Given the description of an element on the screen output the (x, y) to click on. 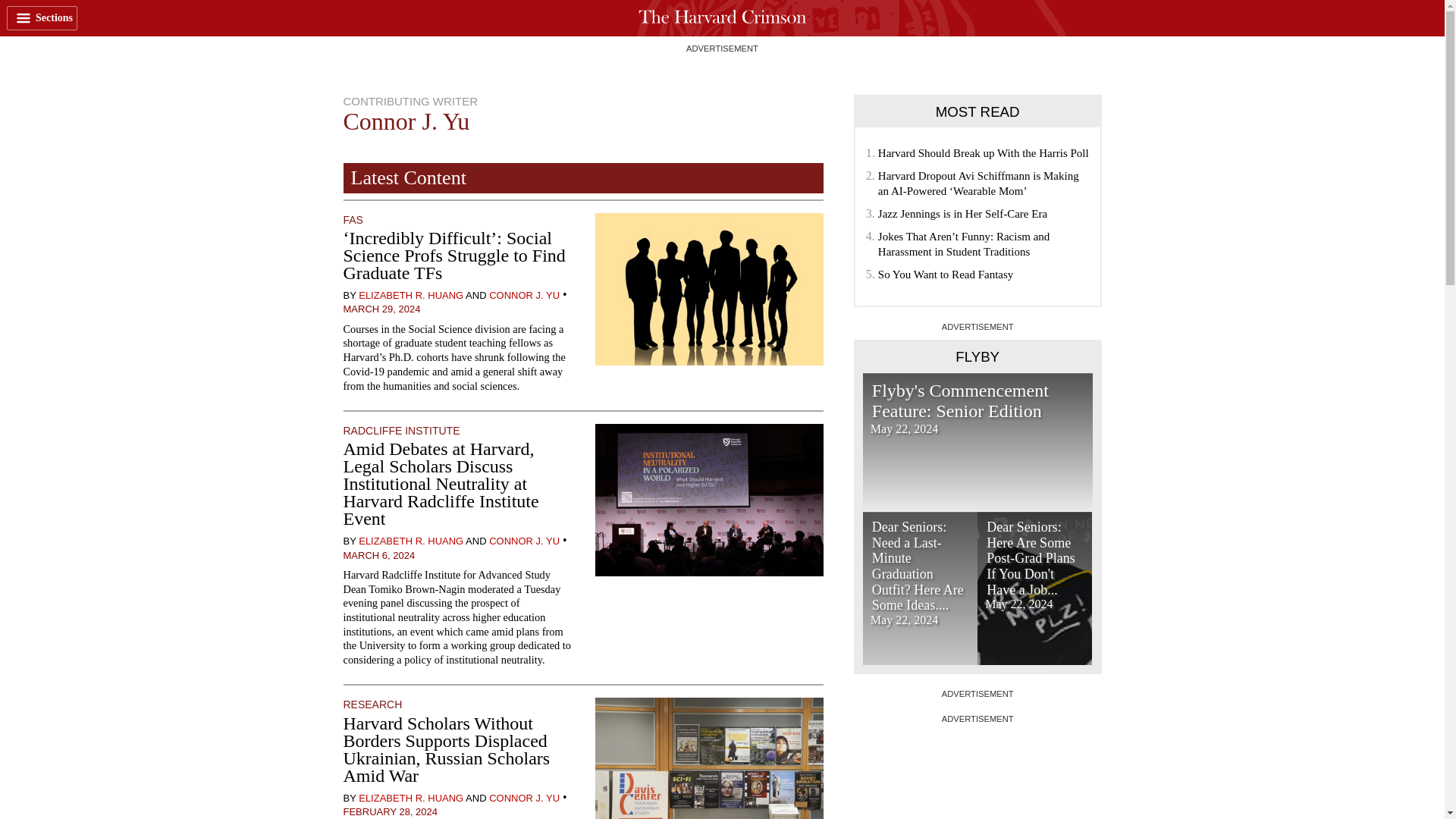
FAS (352, 219)
CONNOR J. YU (524, 541)
ELIZABETH R. HUANG (410, 541)
RESEARCH (371, 704)
ELIZABETH R. HUANG (410, 295)
ELIZABETH R. HUANG (410, 797)
Updated March 06, 2024 at 2:41 pm (378, 554)
Updated May 22, 2024 at 8:52 am (1018, 603)
CONNOR J. YU (524, 797)
RADCLIFFE INSTITUTE (401, 430)
Updated February 28, 2024 at 3:52 pm (390, 811)
Updated March 29, 2024 at 2:45 pm (381, 308)
Updated May 22, 2024 at 8:52 am (903, 619)
